Given the description of an element on the screen output the (x, y) to click on. 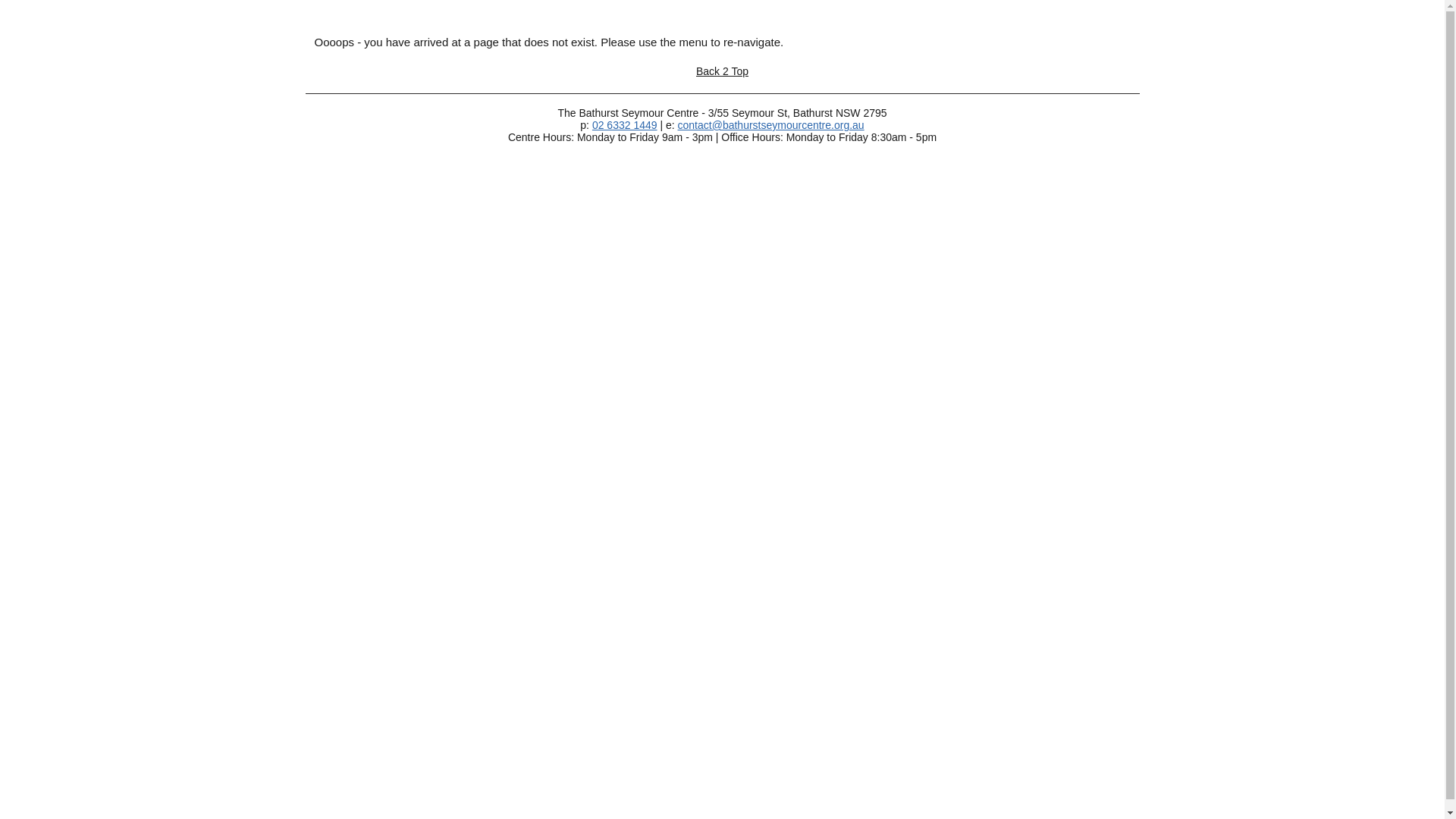
02 6332 1449 Element type: text (624, 125)
contact@bathurstseymourcentre.org.au Element type: text (770, 125)
Back 2 Top Element type: text (722, 71)
